Given the description of an element on the screen output the (x, y) to click on. 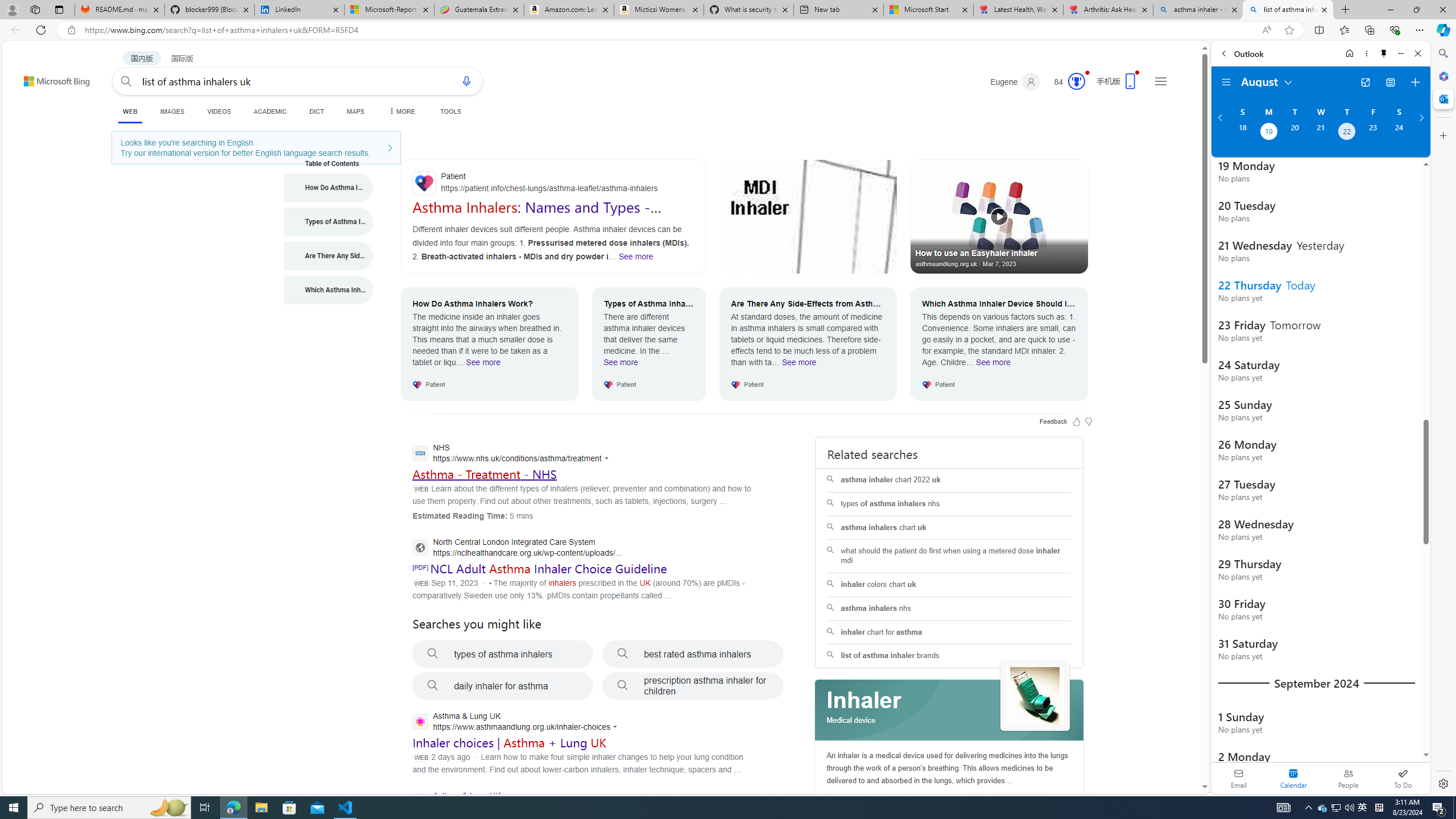
Tuesday, August 20, 2024.  (1294, 132)
Search button (126, 80)
daily inhaler for asthma (503, 685)
Create event (1414, 82)
Feedback Like (1076, 420)
Wednesday, August 21, 2024.  (1320, 132)
Are There Any Side-Effects from Asthma Inhalers? (328, 255)
